Given the description of an element on the screen output the (x, y) to click on. 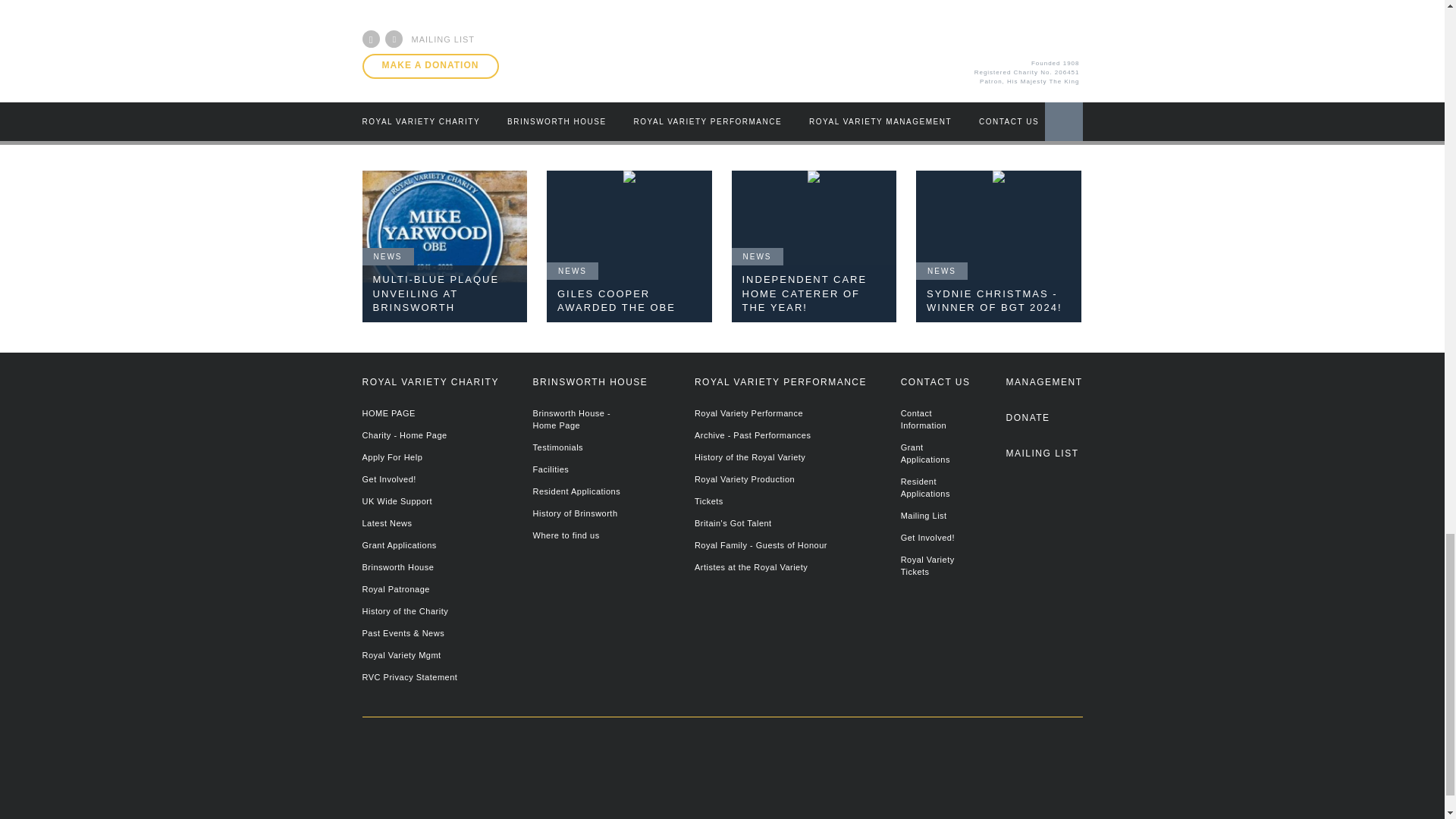
Royal Variety Charity (472, 773)
Mailing List (1043, 460)
Donate (1043, 425)
Brinsworth House (748, 789)
Royal Variety Management (1043, 389)
Royal Variety Performance (998, 774)
